Given the description of an element on the screen output the (x, y) to click on. 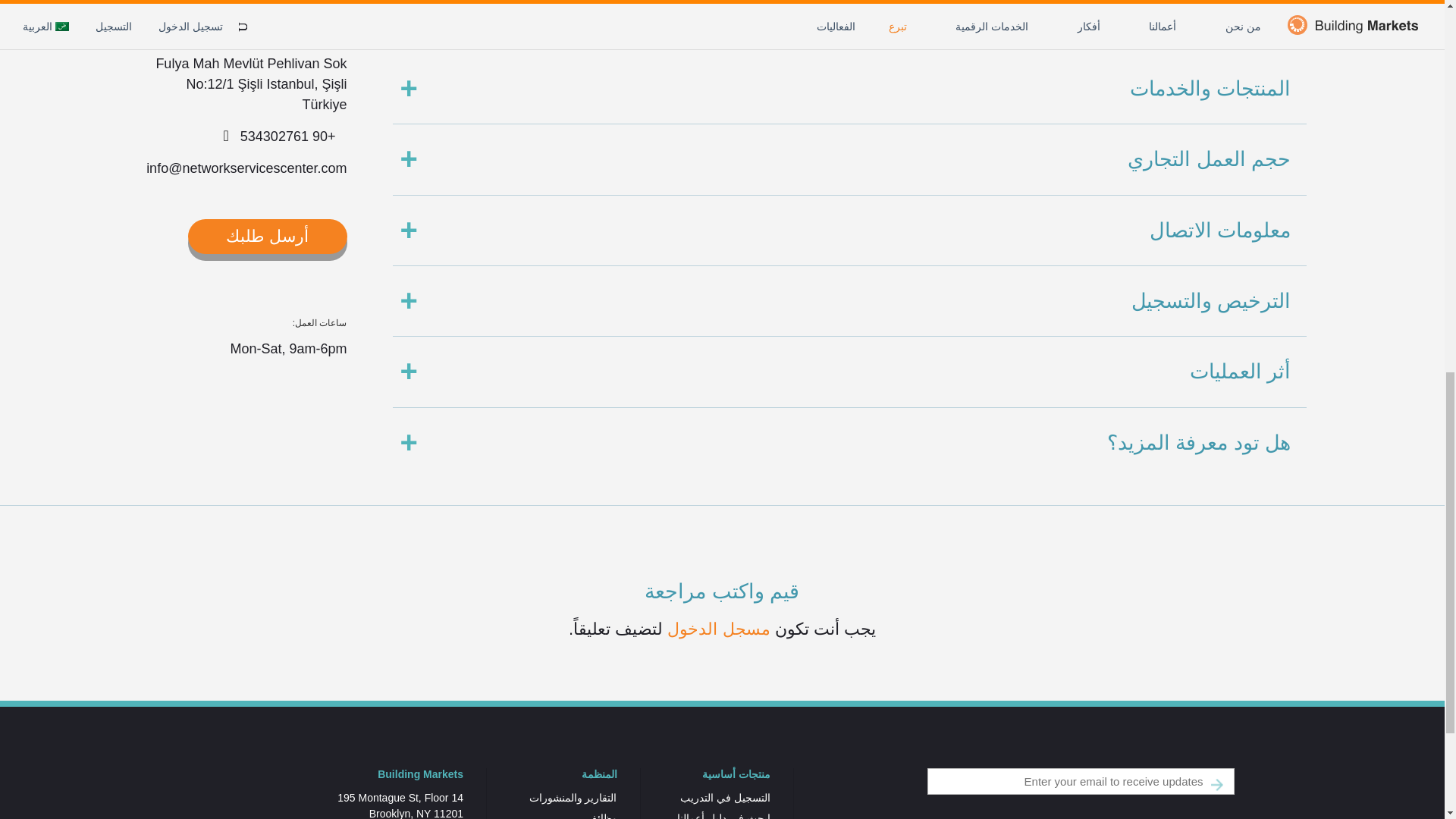
Submit (1216, 785)
